Given the description of an element on the screen output the (x, y) to click on. 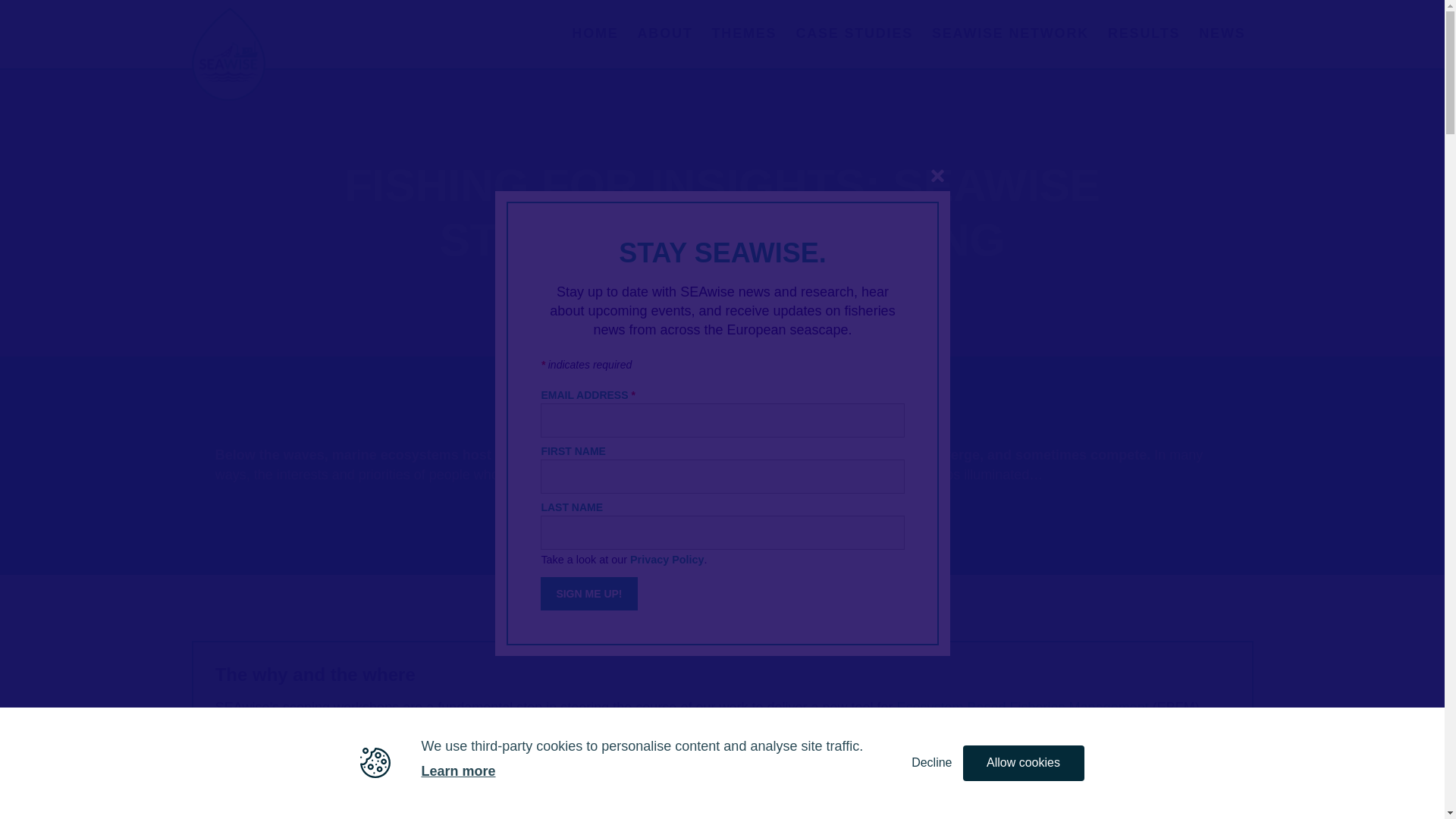
Sign Me Up! (588, 593)
Read more about the cookies used (457, 771)
HOME (595, 32)
ABOUT (665, 32)
Close (936, 176)
Learn more (457, 771)
SEAWISE NETWORK (1010, 32)
Allow cookies (1023, 762)
Sign Me Up! (588, 593)
THEMES (744, 32)
CASE STUDIES (853, 32)
RESULTS (1144, 32)
Decline (931, 762)
NEWS (1221, 32)
Privacy Policy (665, 558)
